Given the description of an element on the screen output the (x, y) to click on. 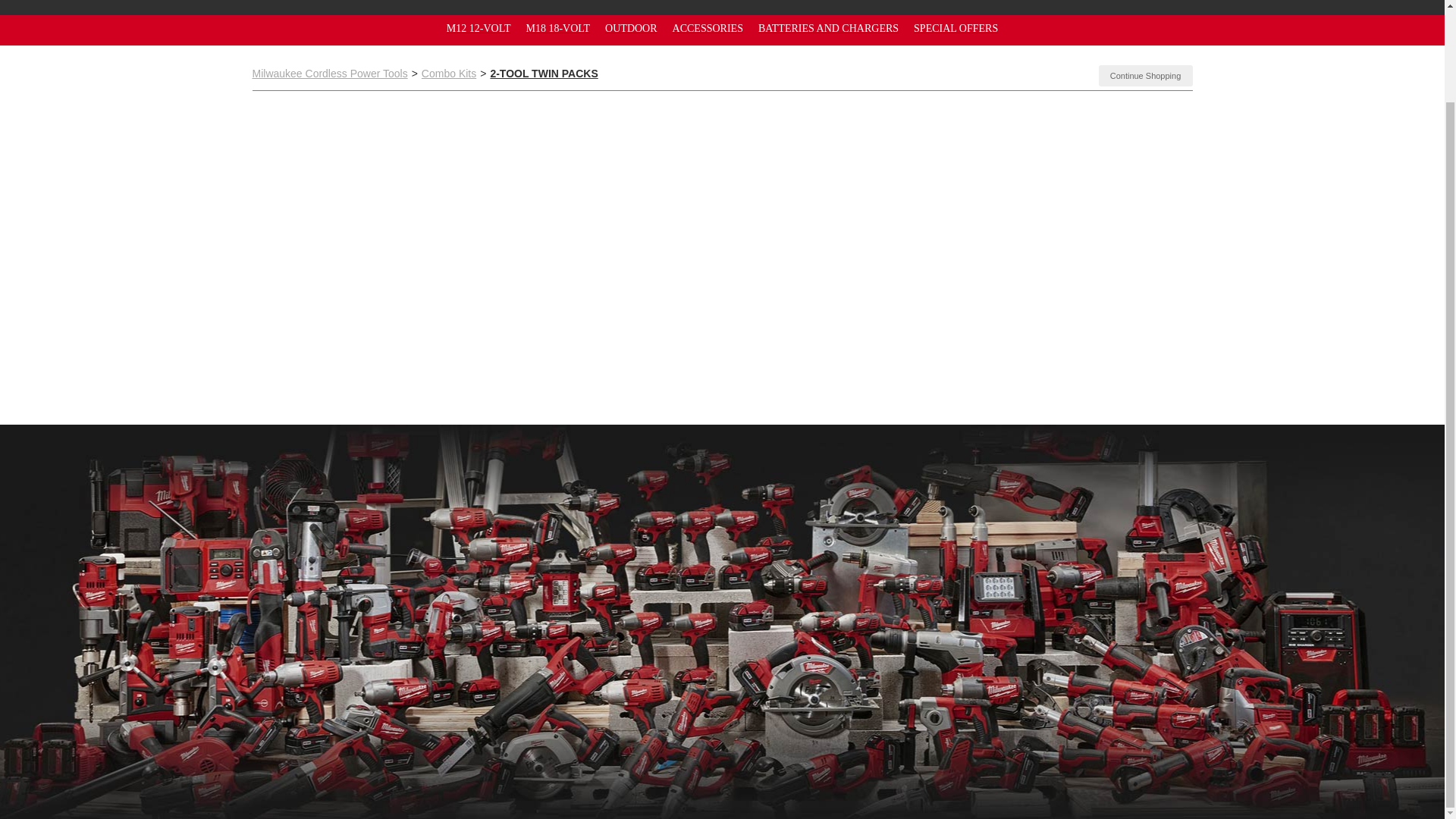
SPECIAL OFFERS (955, 28)
OUTDOOR (630, 28)
M18 18-VOLT (557, 28)
BATTERIES AND CHARGERS (828, 28)
ACCESSORIES (707, 28)
M12 12-VOLT (478, 28)
